Given the description of an element on the screen output the (x, y) to click on. 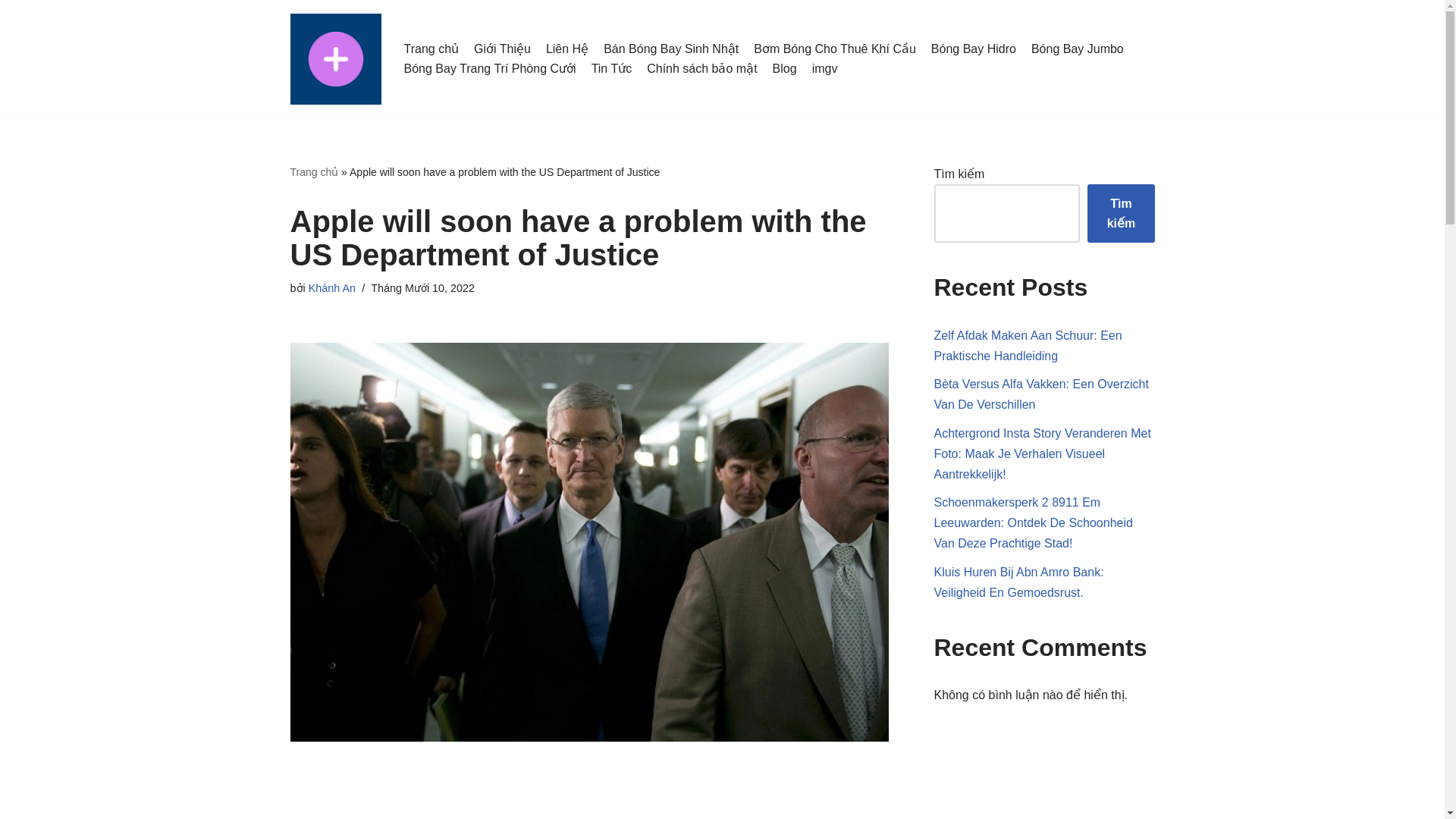
Advertisement (589, 806)
Bongbayoxi.com (334, 58)
imgv (825, 68)
Zelf Afdak Maken Aan Schuur: Een Praktische Handleiding (1028, 345)
Blog (784, 68)
